Given the description of an element on the screen output the (x, y) to click on. 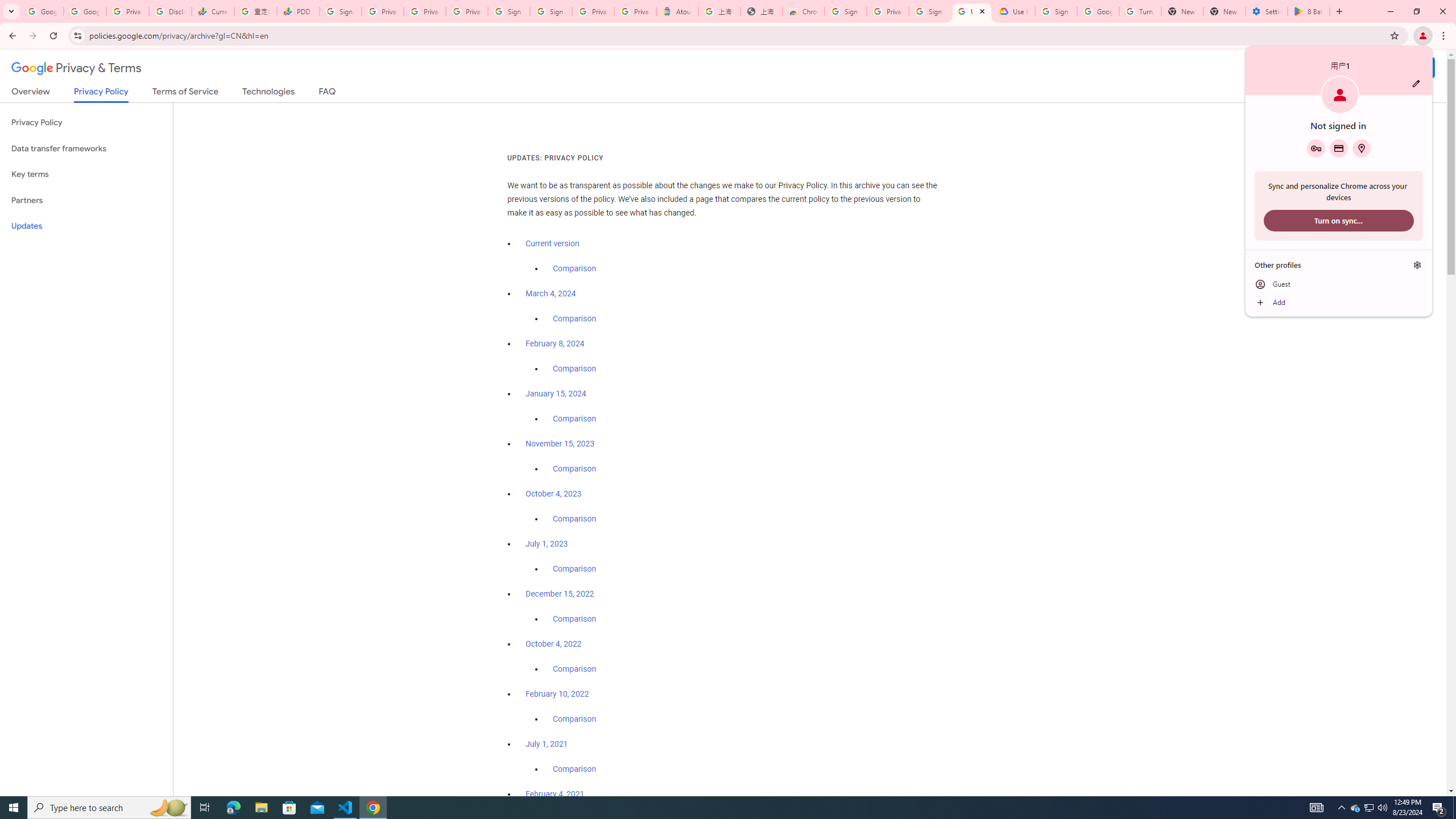
July 1, 2023 (546, 543)
Privacy & Terms (76, 68)
December 15, 2022 (559, 593)
